Given the description of an element on the screen output the (x, y) to click on. 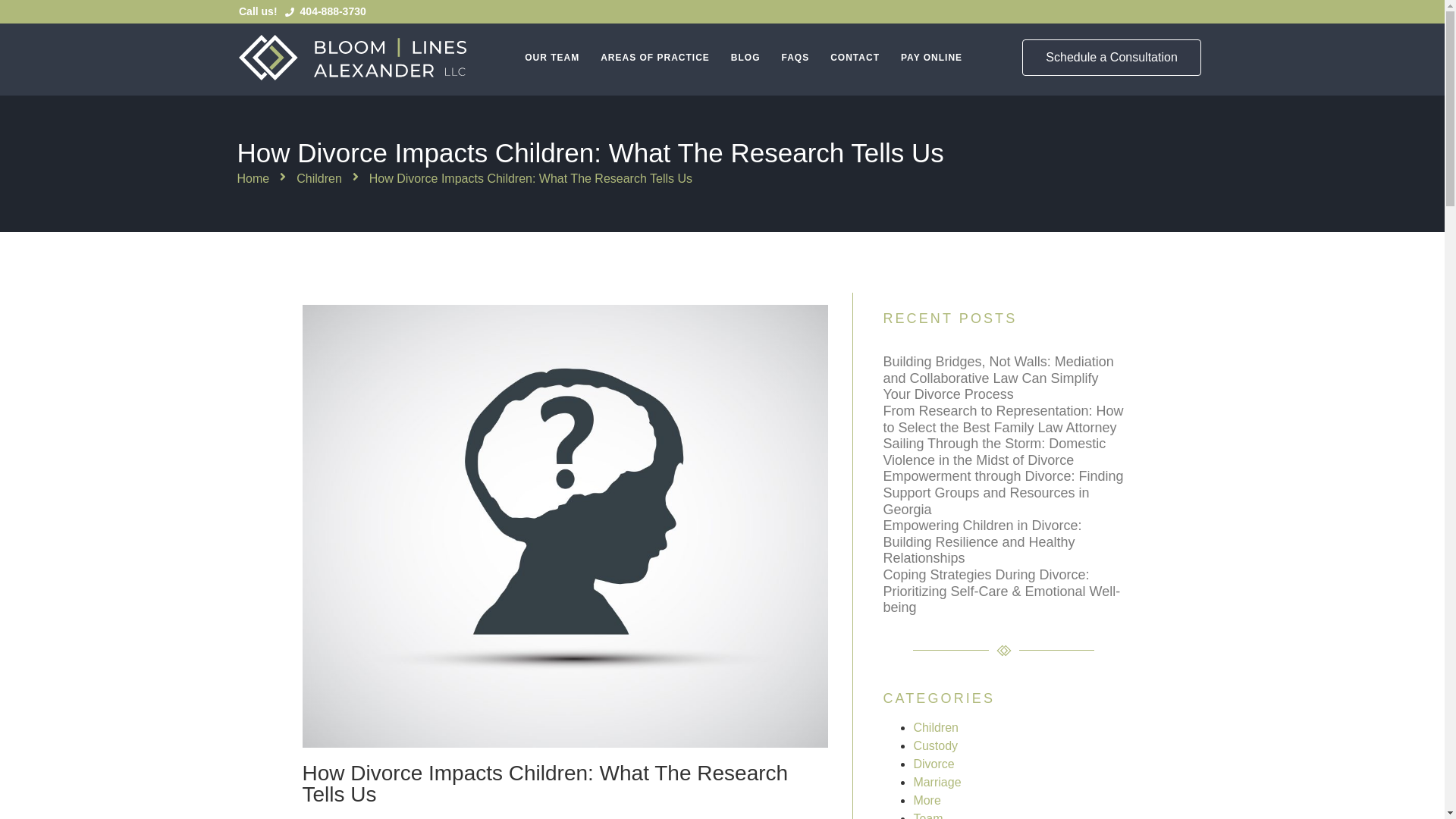
PAY ONLINE (931, 56)
Home (252, 178)
OUR TEAM (551, 56)
404-888-3730 (325, 11)
CONTACT (854, 56)
How Divorce Impacts Children: What The Research Tells Us (531, 178)
AREAS OF PRACTICE (654, 56)
